Given the description of an element on the screen output the (x, y) to click on. 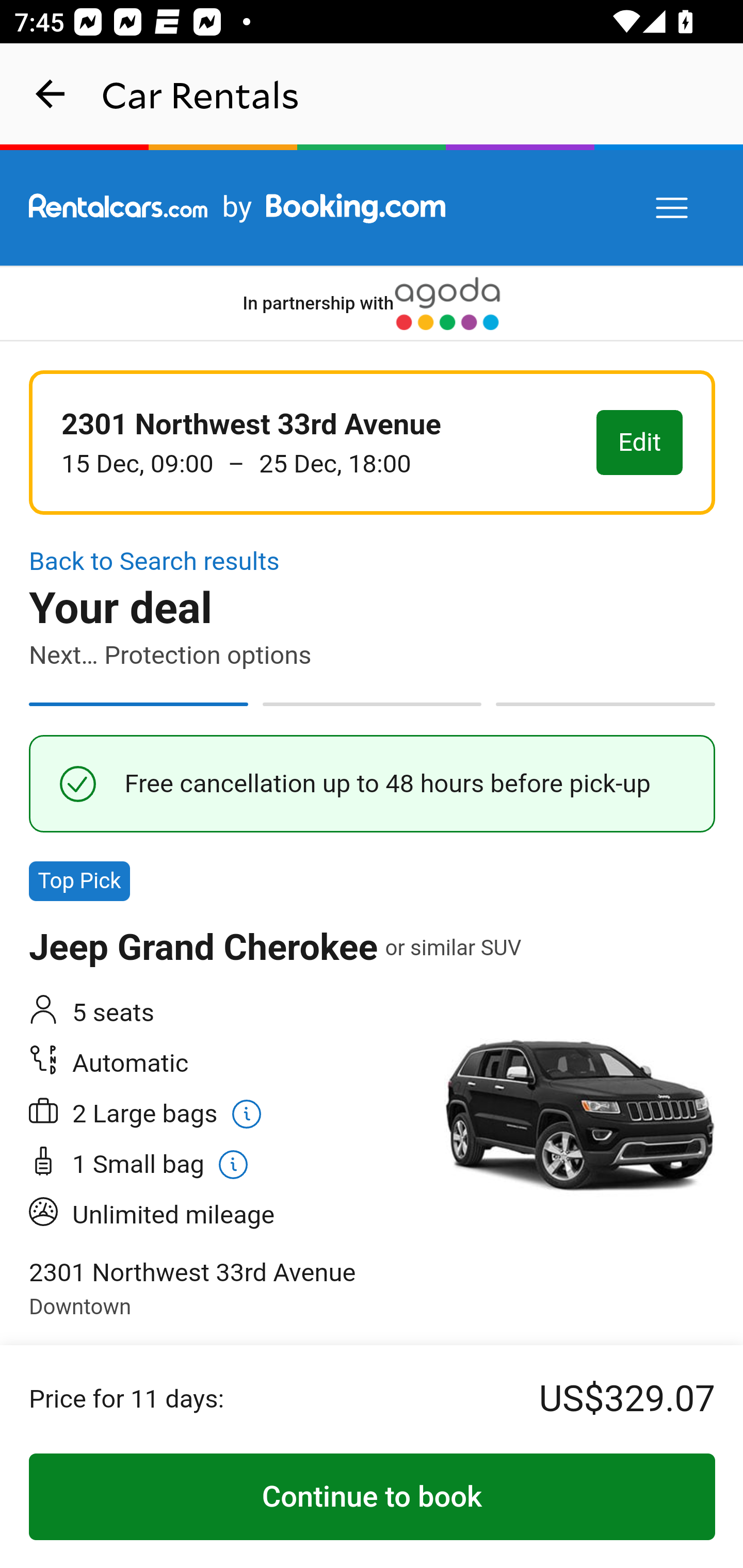
navigation_button (50, 93)
Menu (672, 208)
Edit (639, 443)
5 seats (226, 1014)
Automatic (226, 1063)
2 Large bags (226, 1114)
2 Large bags (166, 1114)
1 Small bag (226, 1164)
1 Small bag (160, 1164)
Unlimited mileage (226, 1215)
Continue to book (372, 1497)
